Given the description of an element on the screen output the (x, y) to click on. 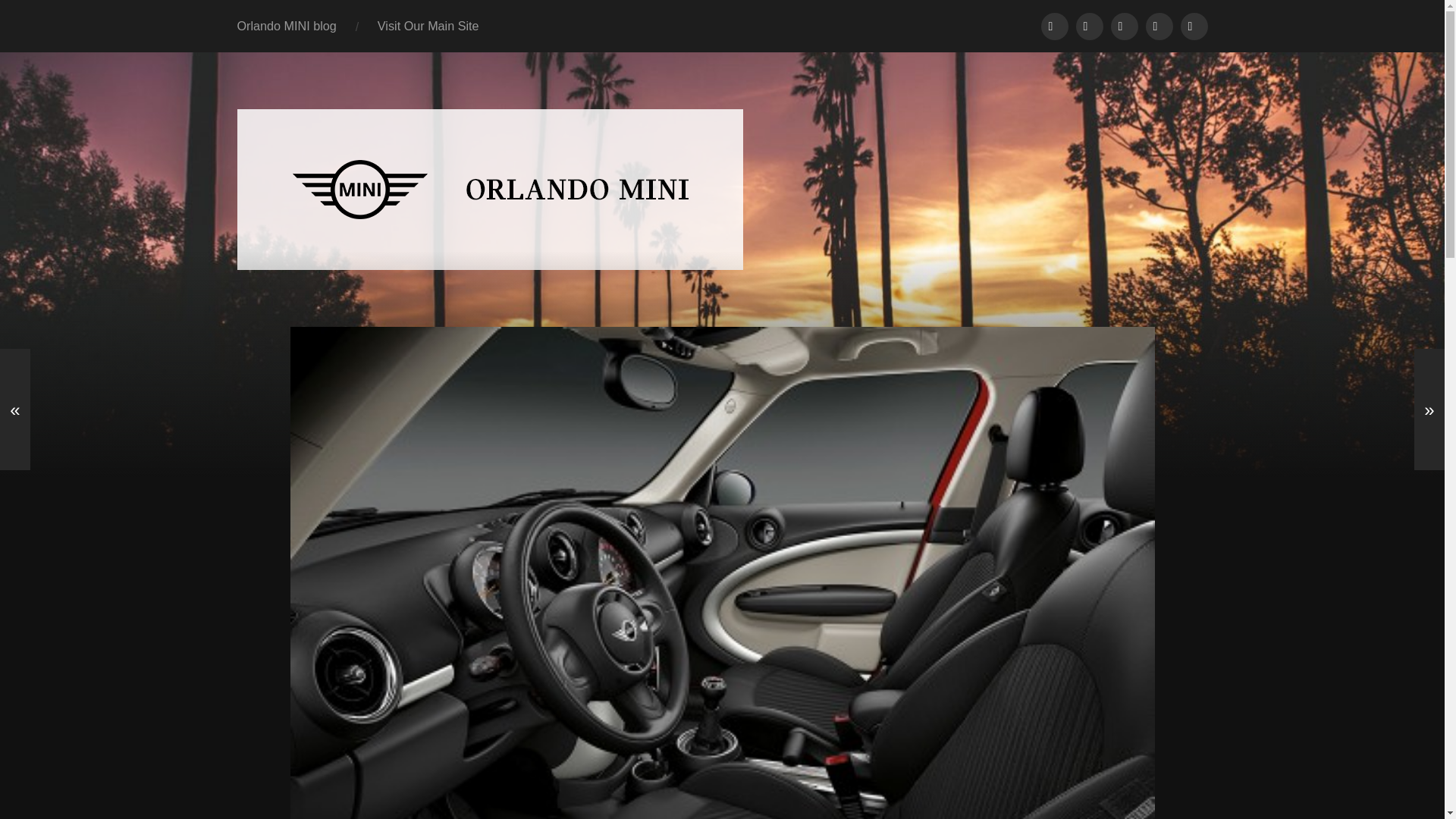
Orlando MINI blog (286, 26)
YouTube (1123, 25)
Twitter (1088, 25)
Visit Our Main Site (427, 26)
Instagram (1158, 25)
Facebook (1054, 25)
Pinterest (1193, 25)
